Given the description of an element on the screen output the (x, y) to click on. 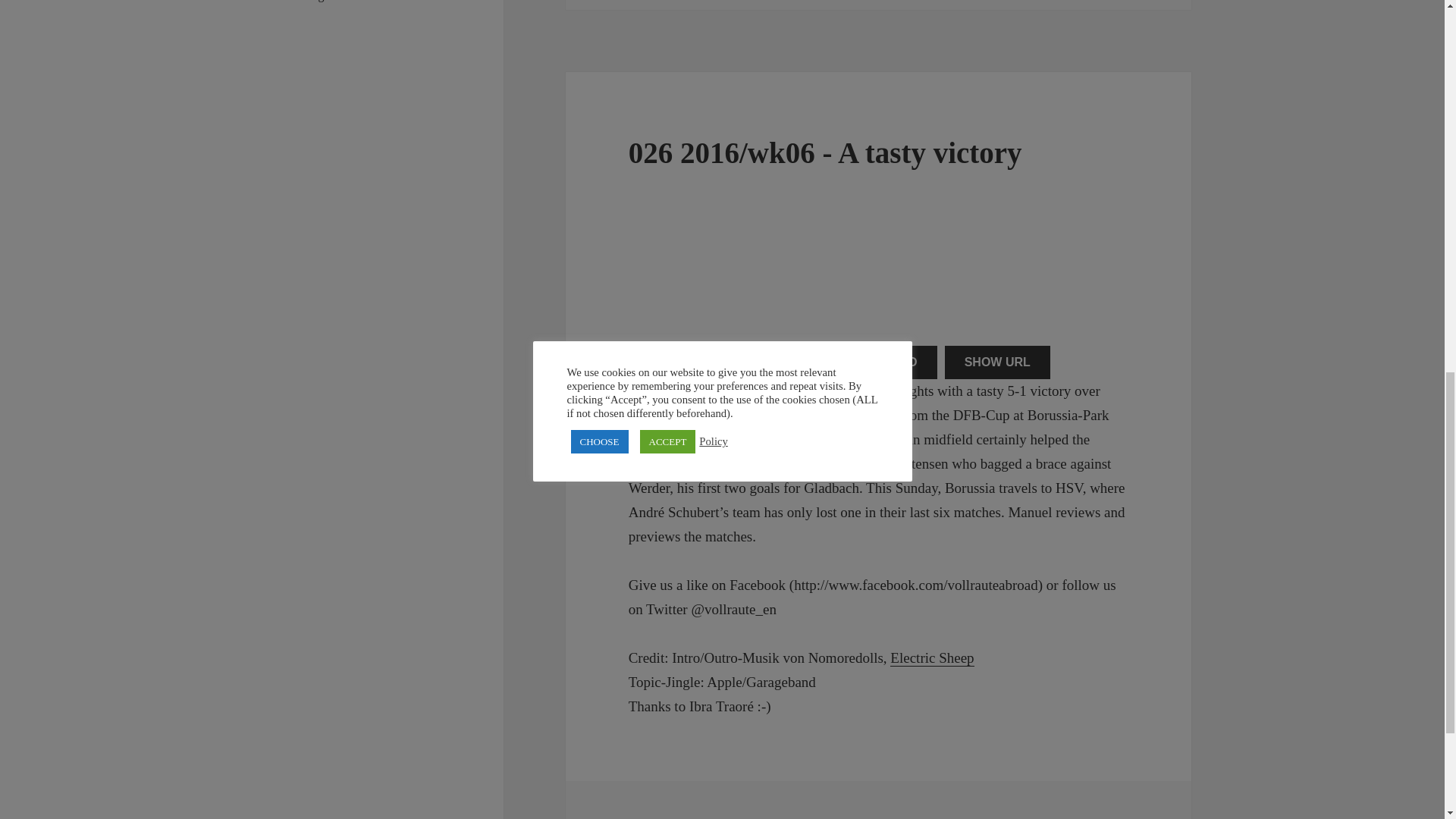
DOWNLOAD (881, 362)
Electric Sheep (931, 658)
WordPress.org (288, 0)
SHOW URL (996, 362)
